Given the description of an element on the screen output the (x, y) to click on. 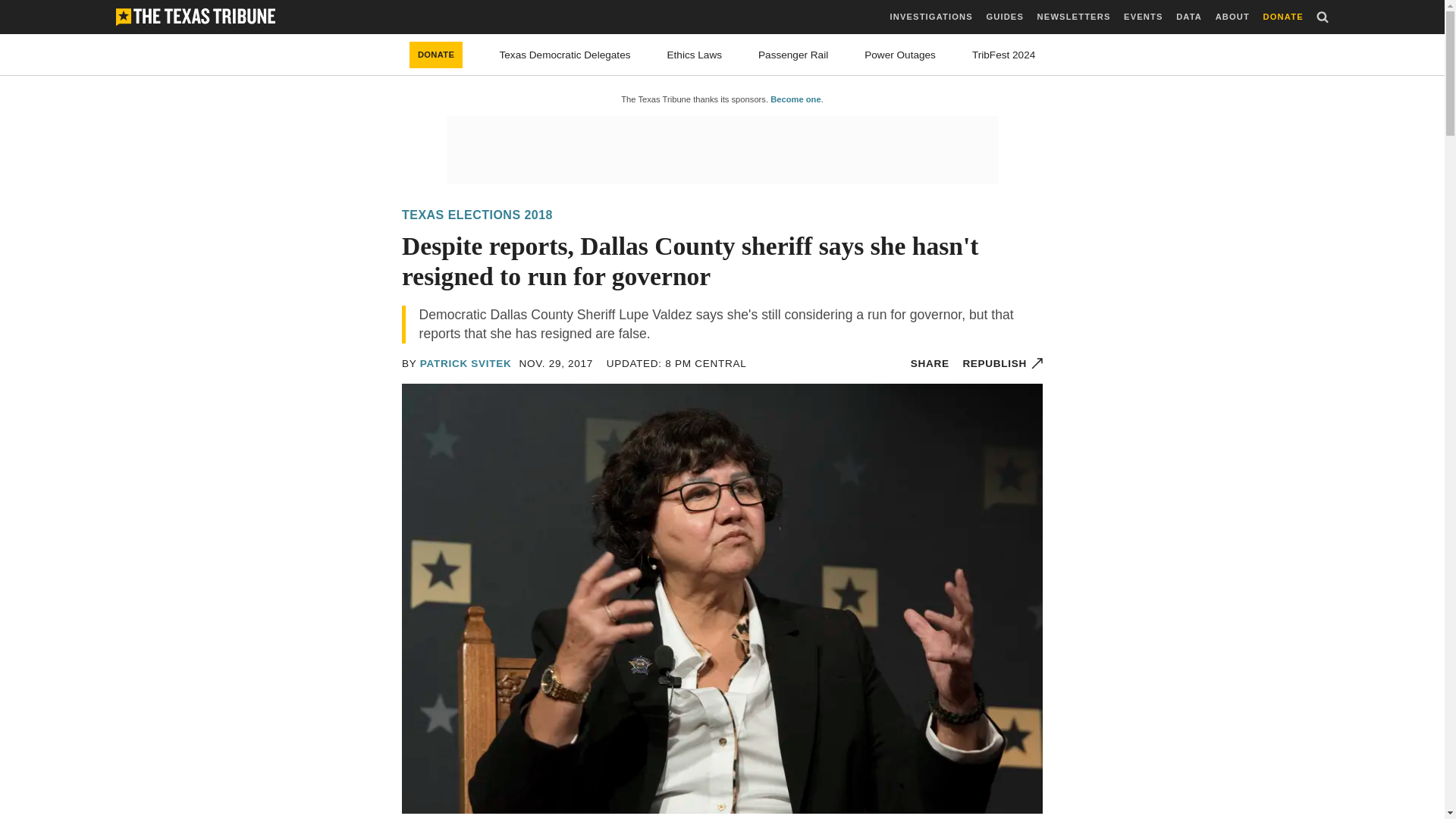
Texas Democratic Delegates (564, 54)
TEXAS ELECTIONS 2018 (477, 214)
TribFest 2024 (1003, 54)
Power Outages (900, 54)
Ethics Laws (694, 54)
Become one (795, 99)
2017-11-29 17:30 CST (556, 363)
DONATE (436, 54)
2017-11-29 20:15 CST (676, 363)
PATRICK SVITEK (466, 363)
Passenger Rail (793, 54)
GUIDES (1004, 17)
NEWSLETTERS (1073, 17)
INVESTIGATIONS (930, 17)
EVENTS (1142, 17)
